Given the description of an element on the screen output the (x, y) to click on. 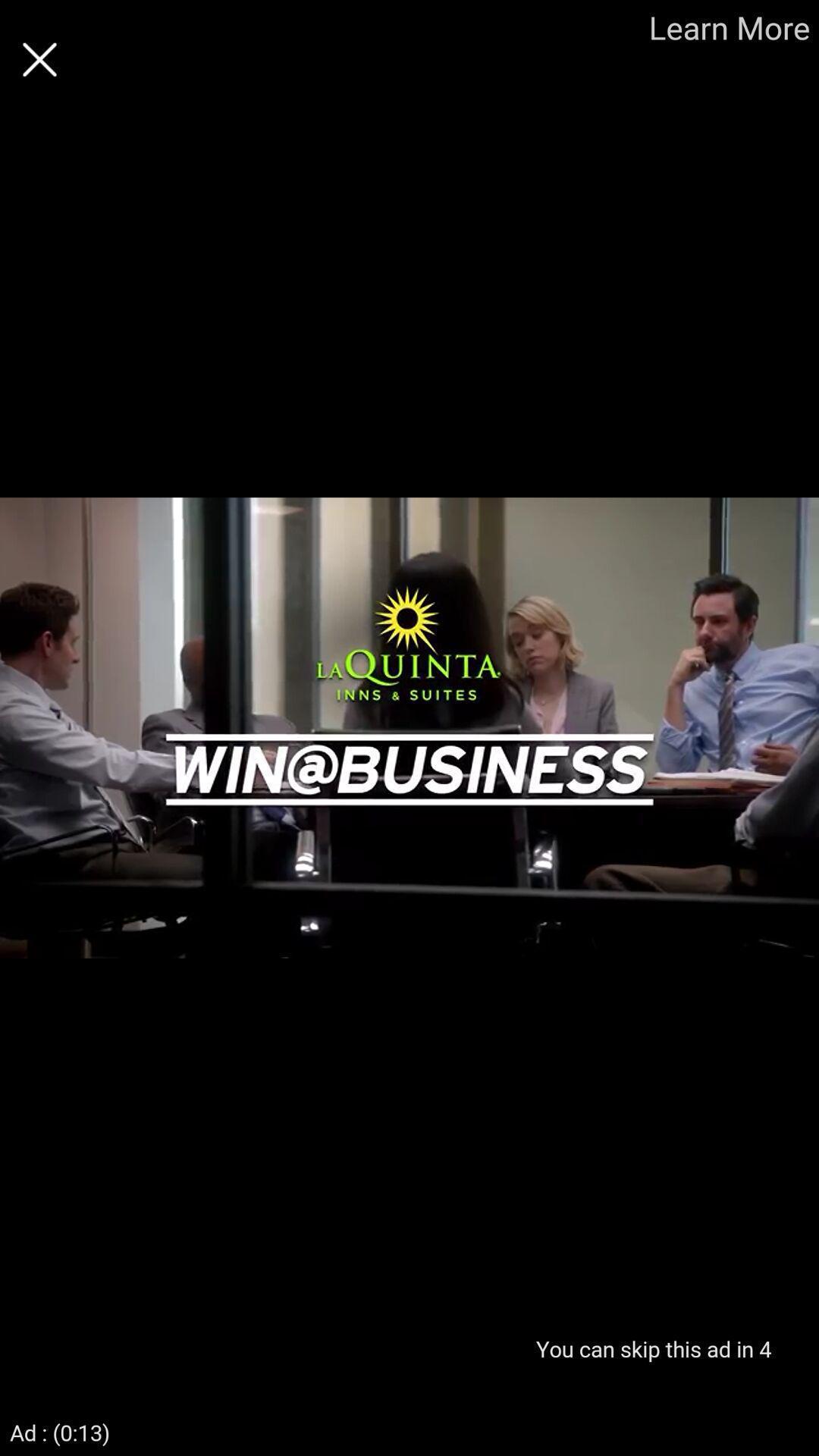
kfvs12 local news (39, 59)
